Given the description of an element on the screen output the (x, y) to click on. 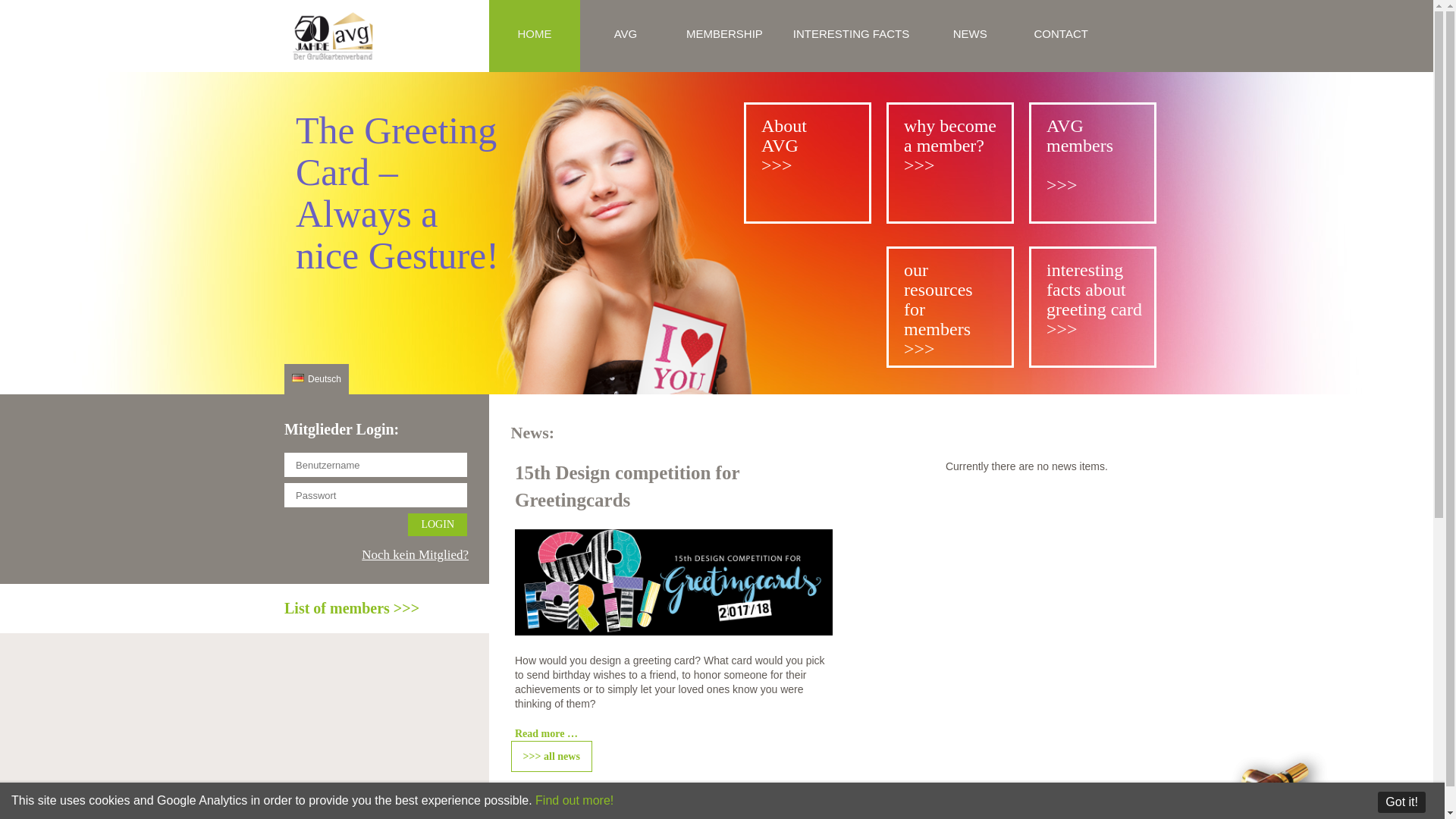
INTERESTING FACTS (850, 36)
MEMBERSHIP (724, 36)
HOME (534, 36)
NEWS (969, 36)
AVG (625, 36)
Login (437, 524)
